Given the description of an element on the screen output the (x, y) to click on. 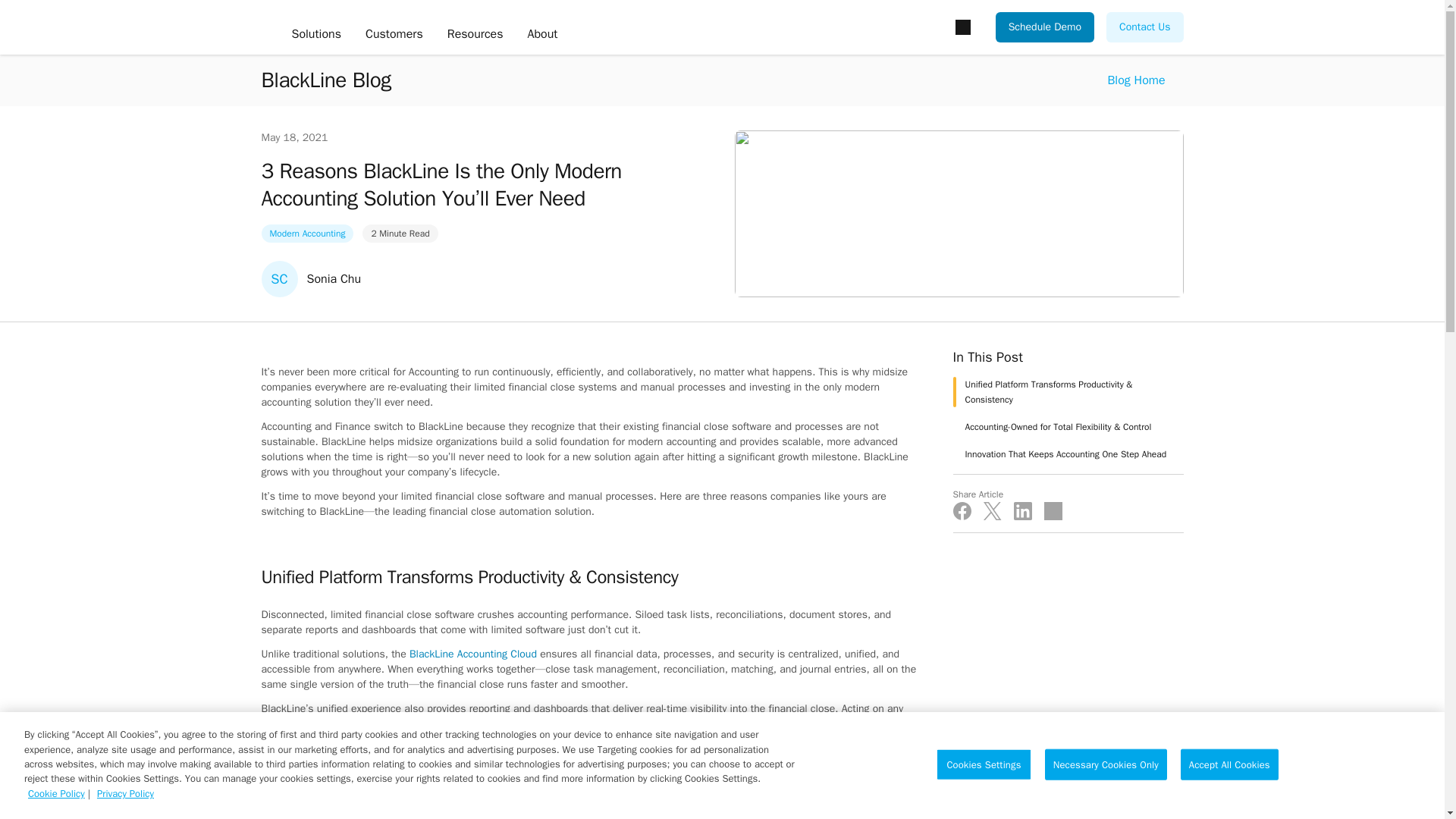
Blog Home (1135, 80)
BlackLine Accounting Cloud (473, 653)
Customers (394, 34)
Contact Us (1144, 27)
Schedule Demo (1044, 27)
Resources (474, 34)
Solutions (315, 34)
